Given the description of an element on the screen output the (x, y) to click on. 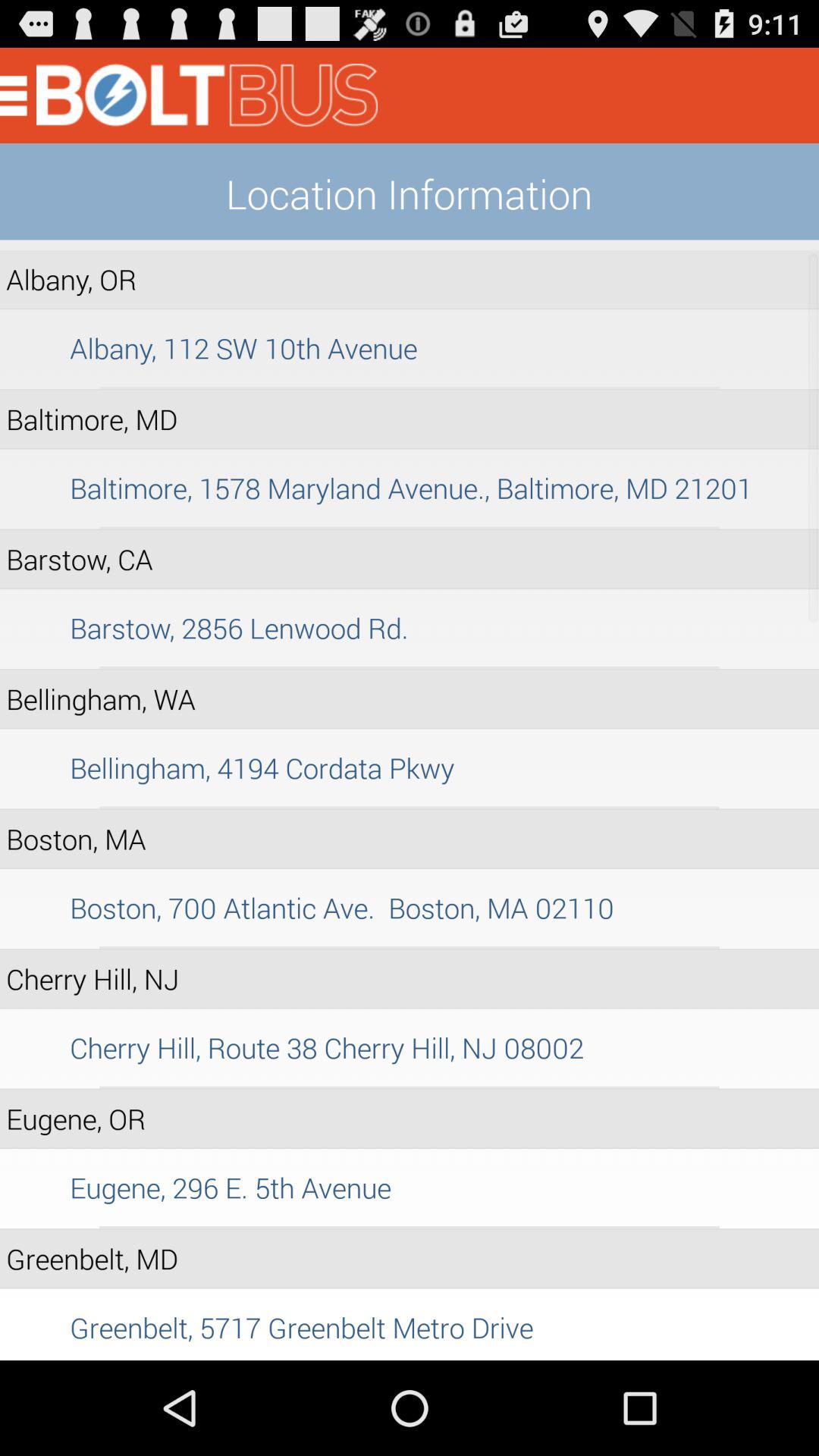
choose icon above the cherry hill, nj item (409, 947)
